Given the description of an element on the screen output the (x, y) to click on. 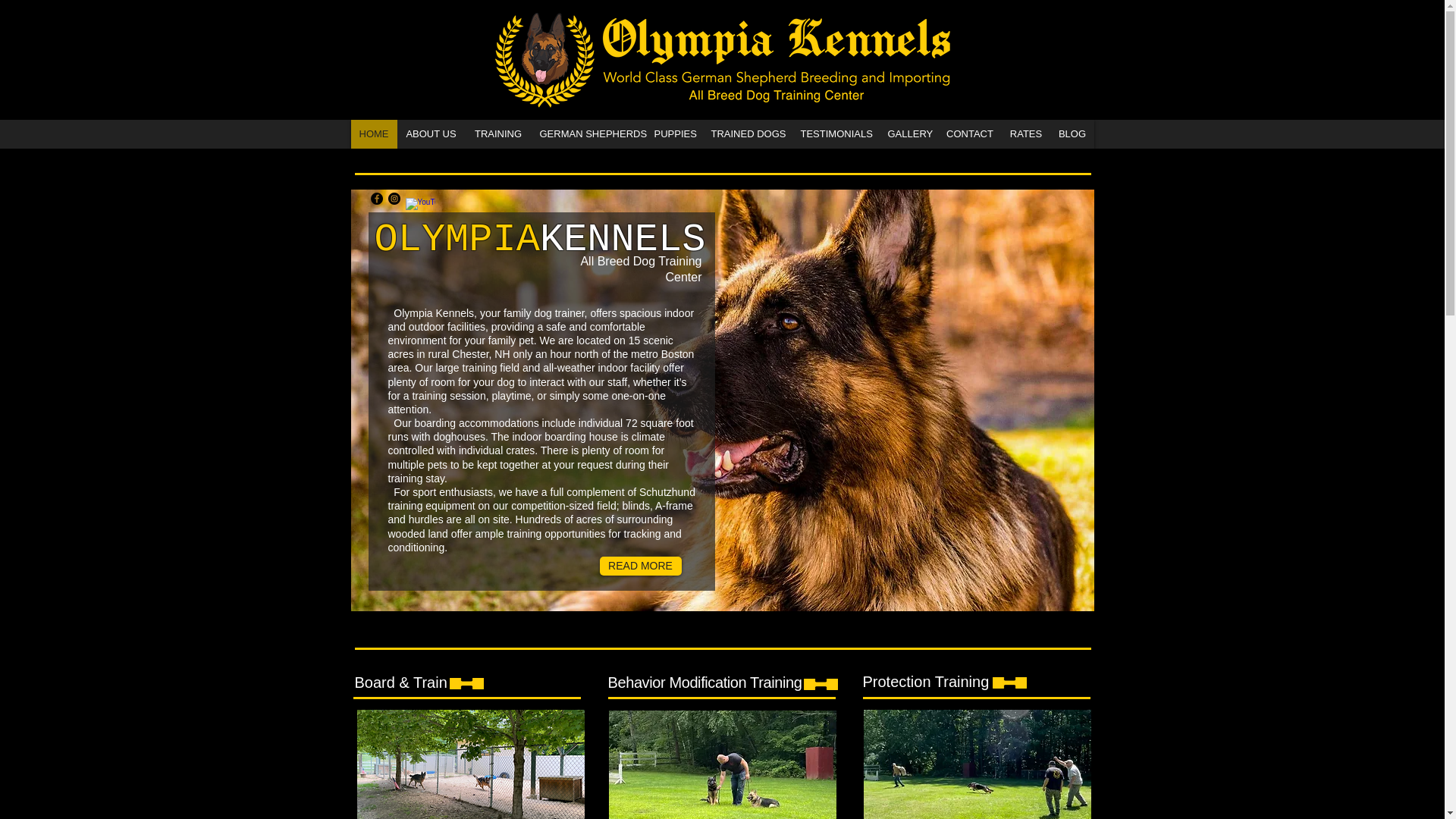
PUPPIES (674, 133)
ABOUT US (430, 133)
READ MORE (639, 565)
OLYMPIAKENNELS (540, 239)
RATES (1025, 133)
GERMAN SHEPHERDS (588, 133)
CONTACT (969, 133)
BLOG (1071, 133)
TRAINING (497, 133)
TRAINED DOGS (746, 133)
